Given the description of an element on the screen output the (x, y) to click on. 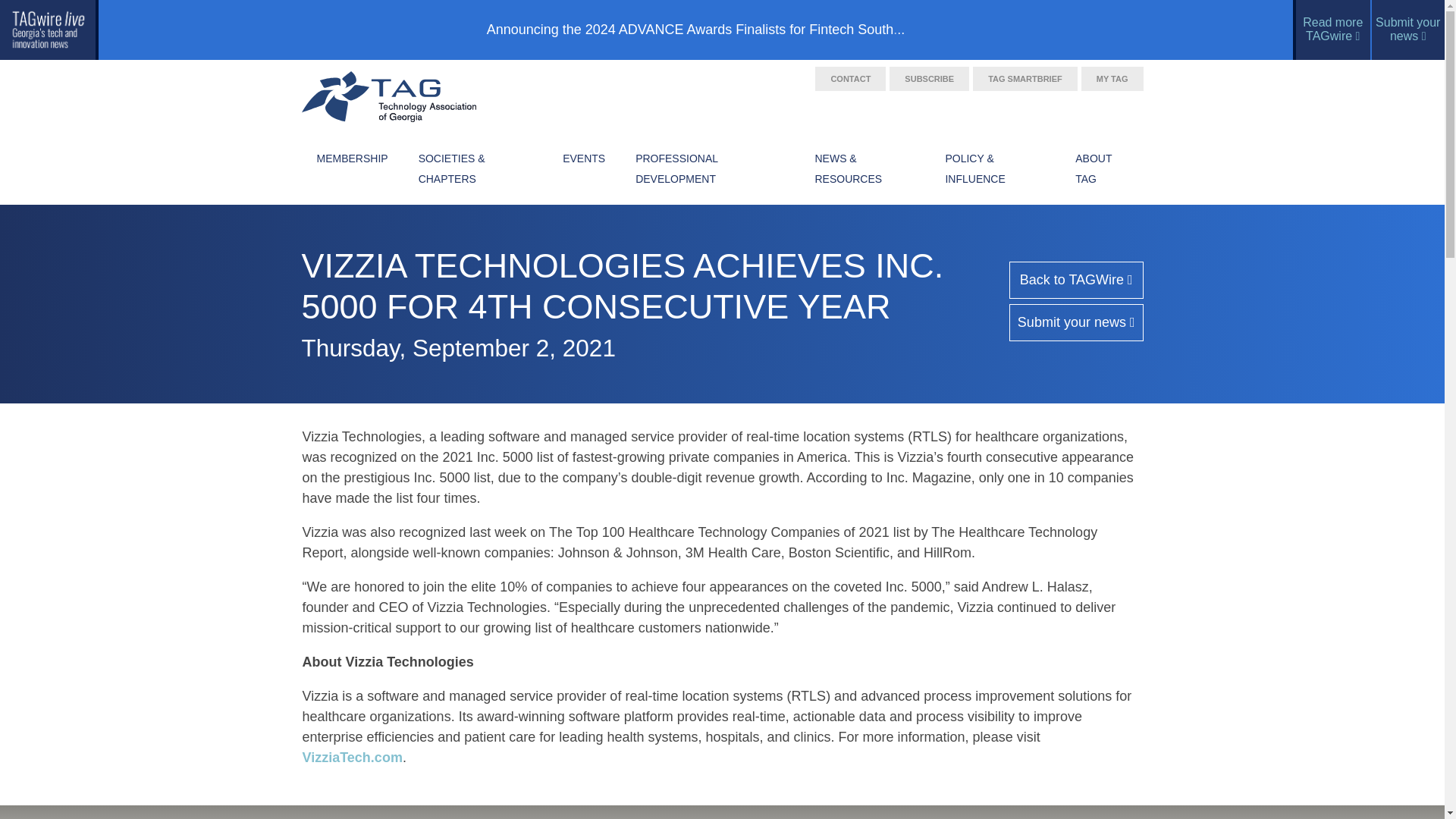
TAG SMARTBRIEF (1024, 78)
CONTACT (850, 78)
Read more TAGwire (1332, 29)
SUBSCRIBE (929, 78)
MY TAG (1111, 78)
MEMBERSHIP (352, 168)
